Given the description of an element on the screen output the (x, y) to click on. 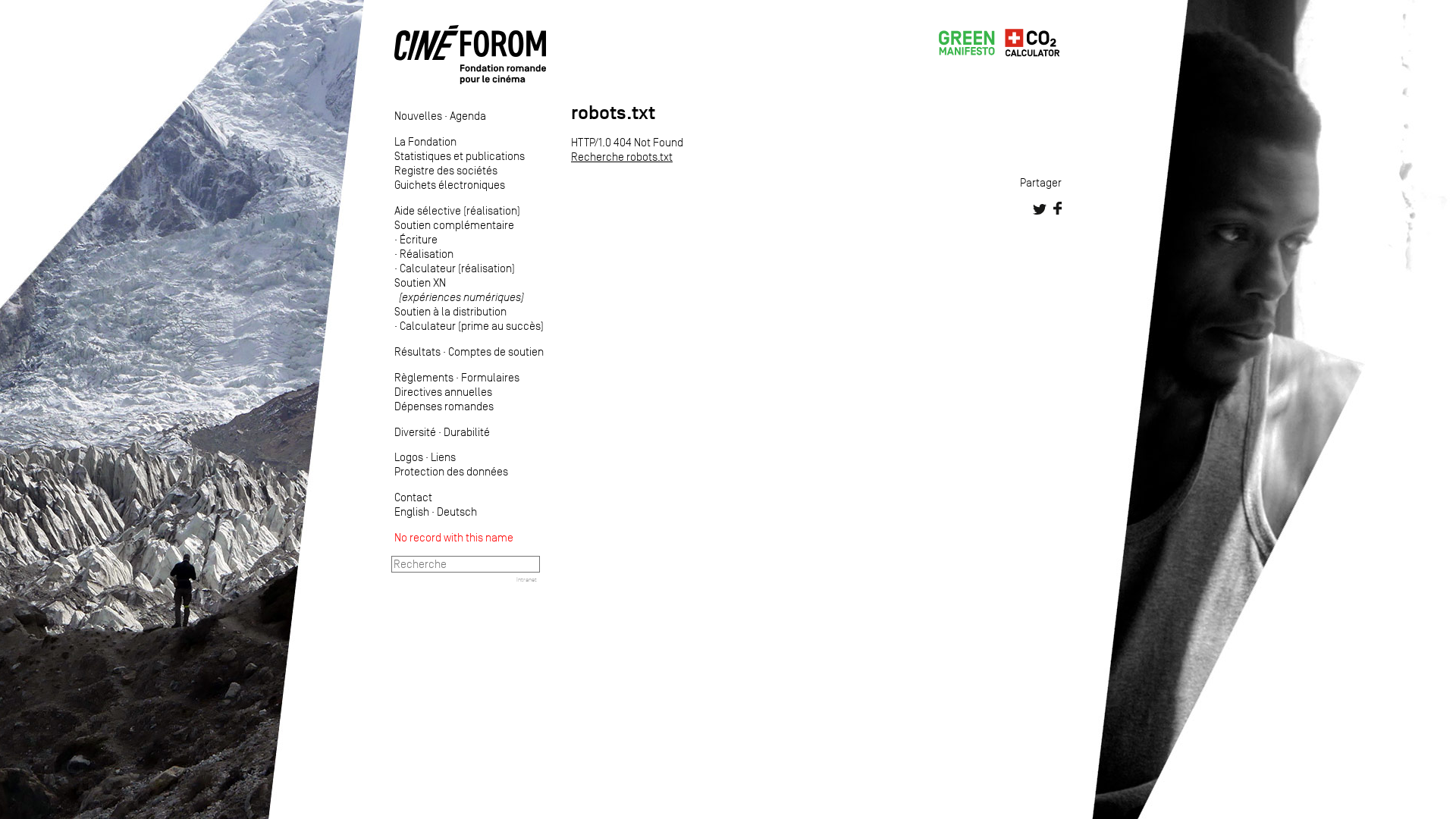
Deutsch Element type: text (456, 511)
Comptes de soutien Element type: text (495, 351)
English Element type: text (411, 511)
? Element type: text (72, 8)
Logos Element type: text (408, 456)
Agenda Element type: text (467, 115)
Statistiques et publications Element type: text (459, 155)
Liens Element type: text (442, 456)
Directives annuelles Element type: text (443, 391)
Intranet Element type: text (526, 579)
Contact Element type: text (413, 496)
Formulaires Element type: text (490, 376)
La Fondation Element type: text (425, 140)
Nouvelles Element type: text (418, 115)
Recherche robots.txt Element type: text (621, 156)
